Given the description of an element on the screen output the (x, y) to click on. 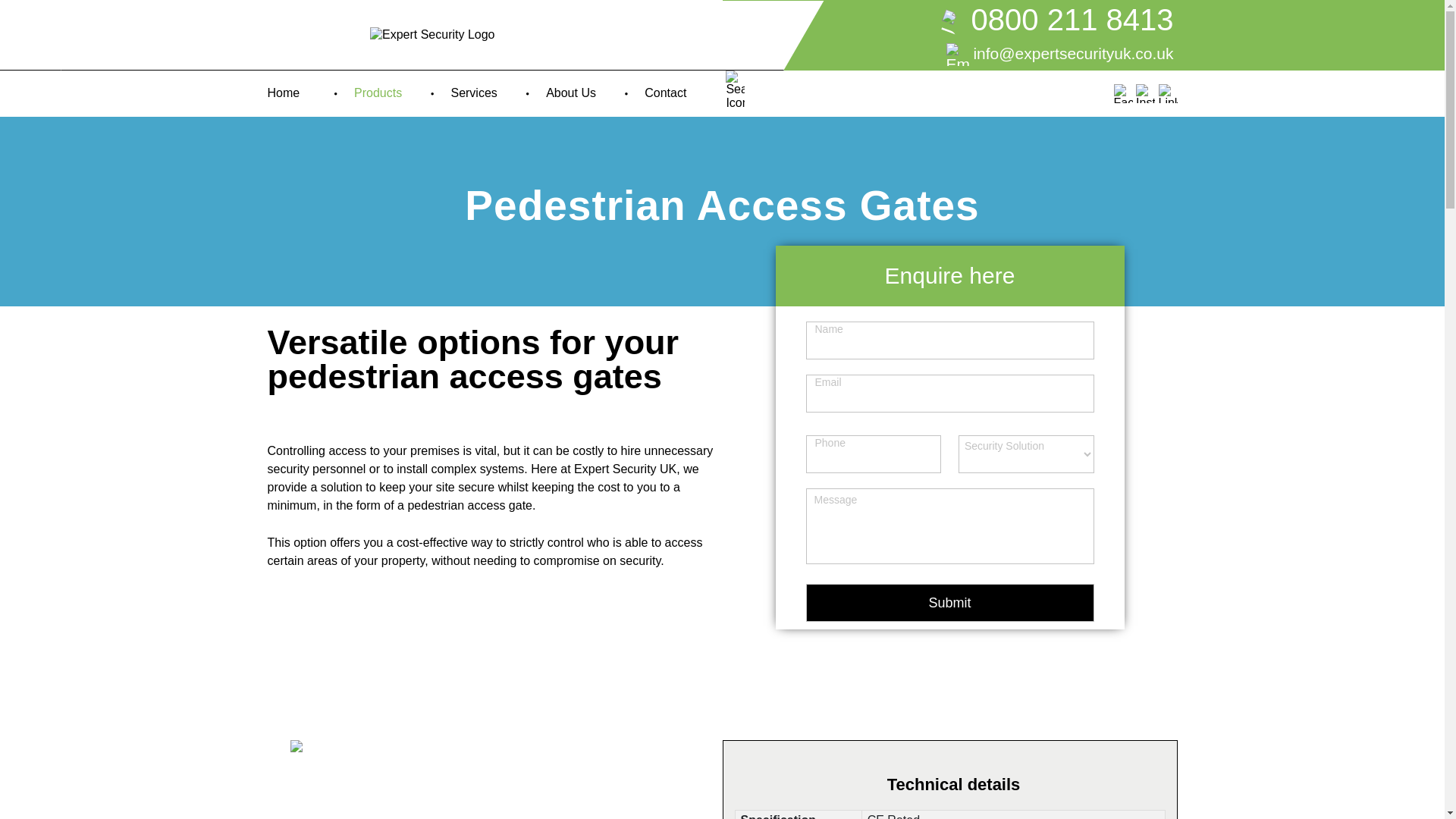
Home (286, 92)
Submit (949, 602)
Products (381, 92)
0800 211 8413 (968, 21)
